Given the description of an element on the screen output the (x, y) to click on. 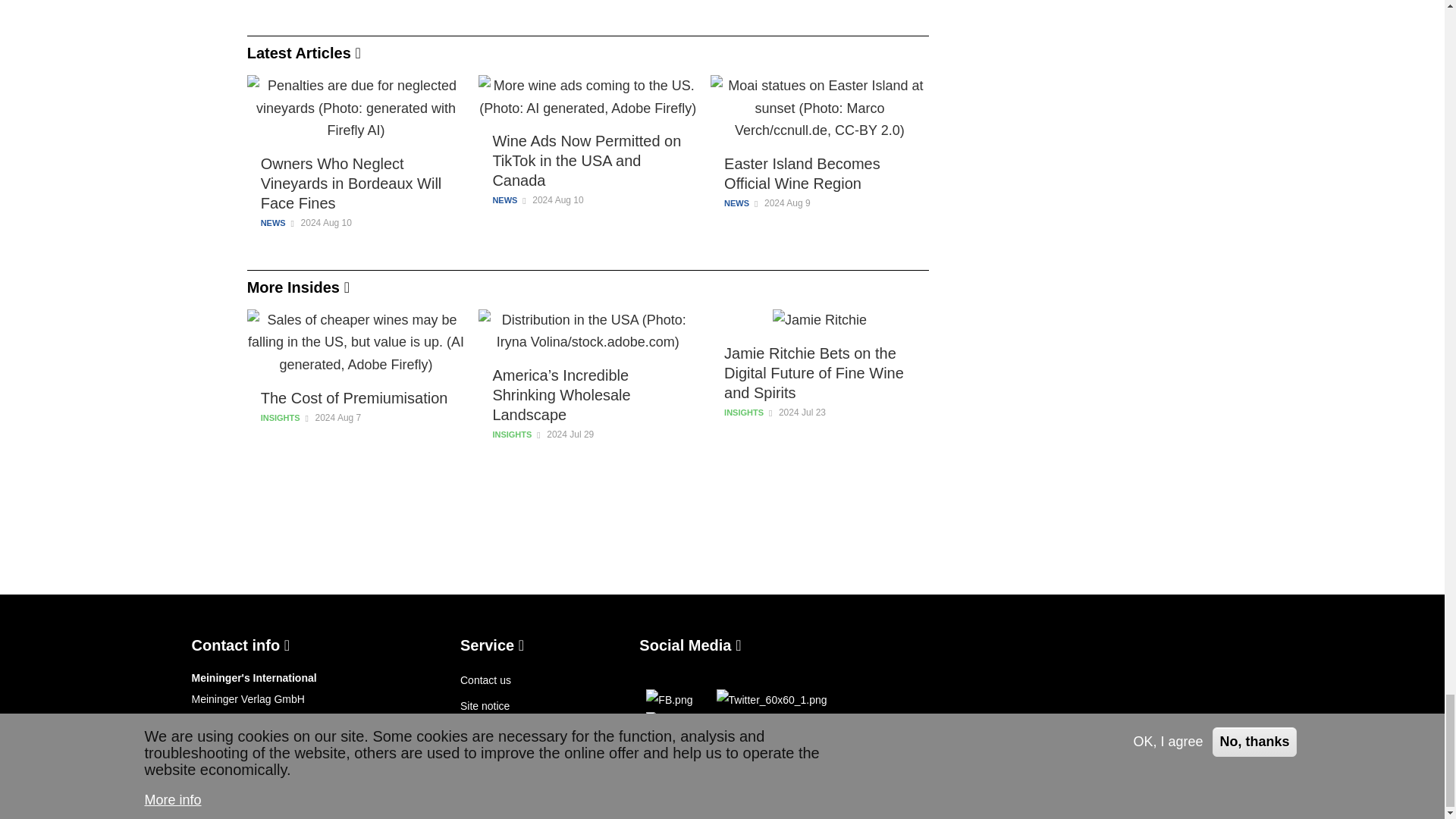
NEWS (736, 202)
INSIGHTS (279, 417)
Wine Ads Now Permitted on TikTok in the USA and Canada (587, 160)
The Cost of Premiumisation (355, 397)
NEWS (272, 222)
Easter Island Becomes Official Wine Region (819, 173)
Jamie Ritchie  (819, 320)
NEWS (504, 199)
Owners Who Neglect Vineyards in Bordeaux Will Face Fines (355, 182)
